Given the description of an element on the screen output the (x, y) to click on. 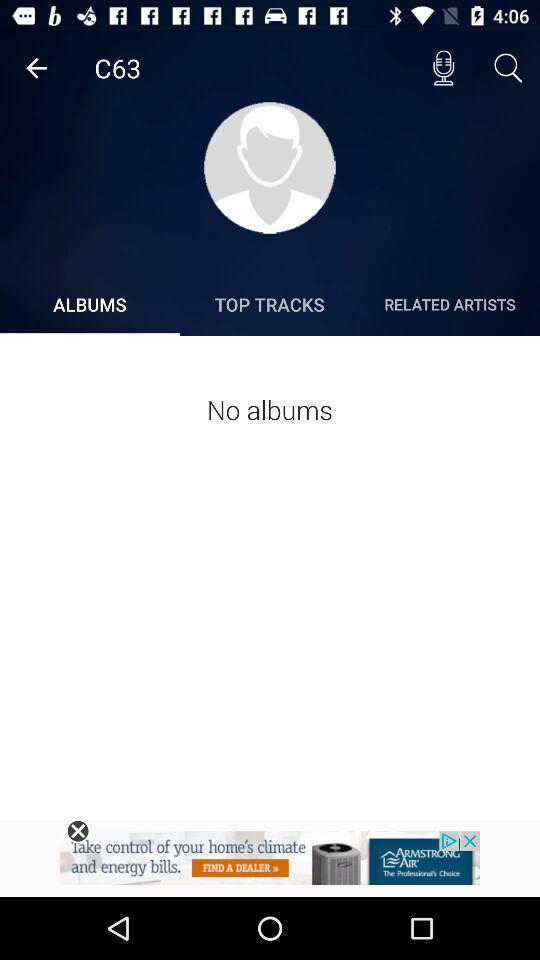
close advertisement (78, 831)
